Given the description of an element on the screen output the (x, y) to click on. 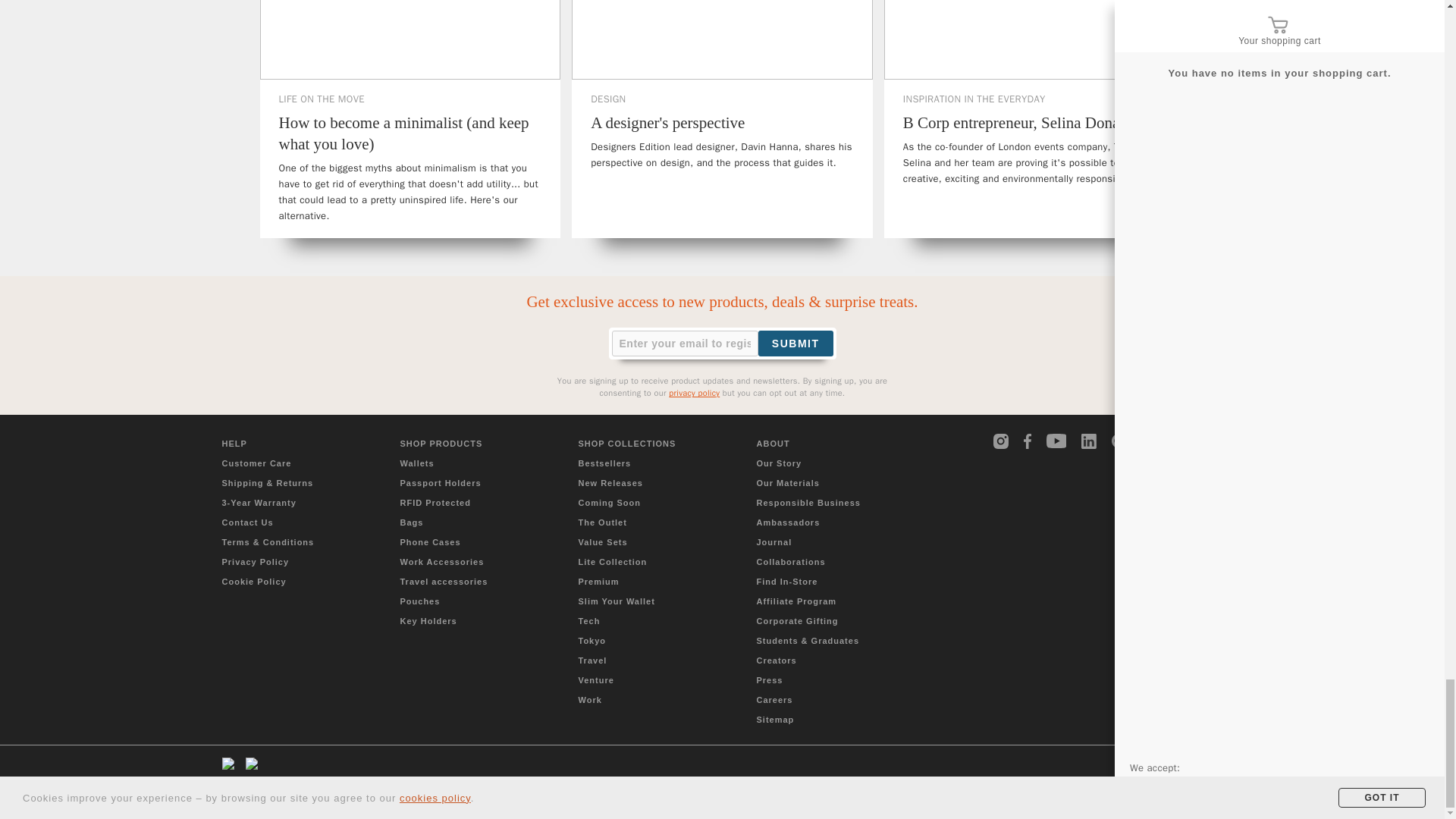
Instagram (1000, 441)
YouTube (1056, 440)
Pinterest (1119, 441)
Facebook (1031, 441)
LinkedIn (1088, 441)
TikTok (1149, 441)
